Given the description of an element on the screen output the (x, y) to click on. 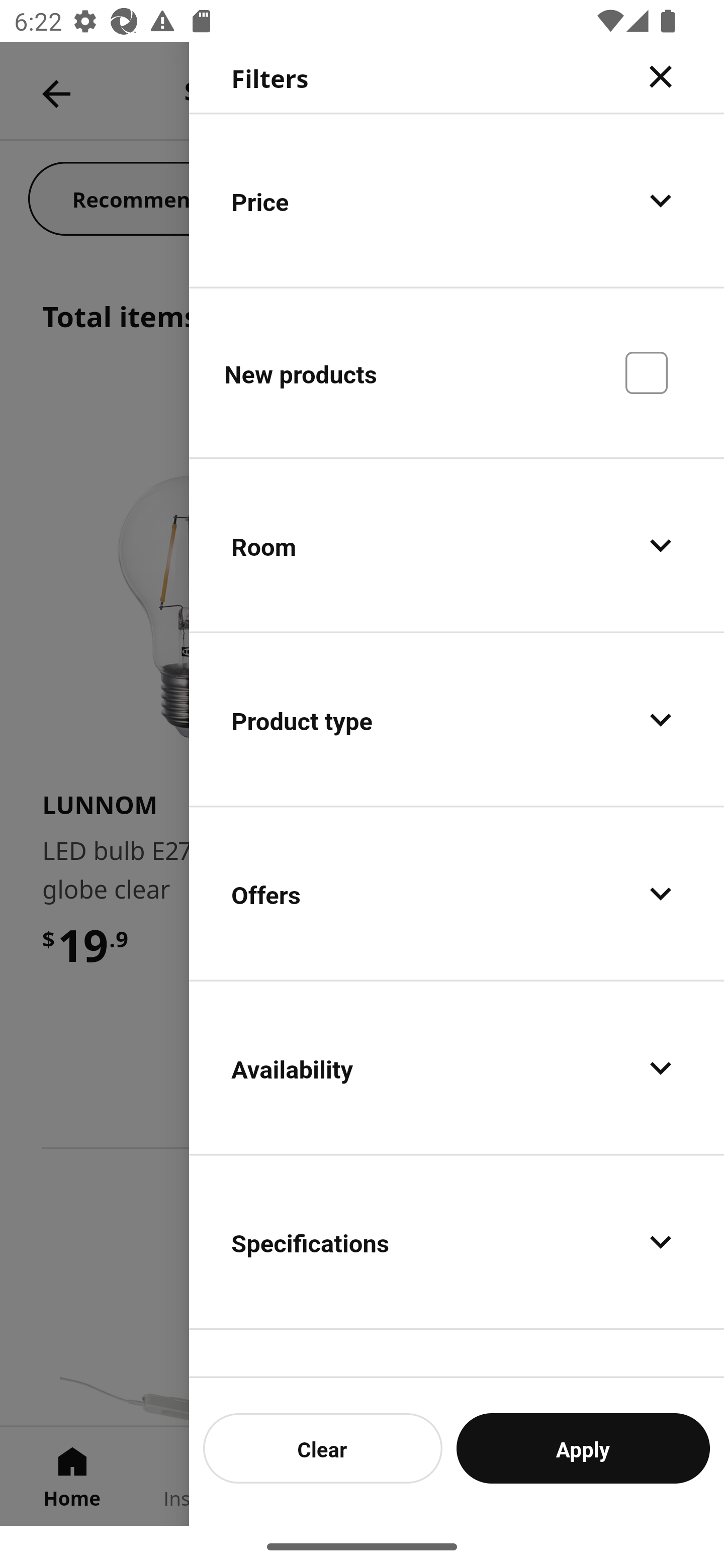
Price (456, 200)
New products (456, 371)
Room (456, 545)
Product type (456, 719)
Offers (456, 893)
Availability (456, 1067)
Specifications (456, 1241)
Clear (322, 1447)
Apply (583, 1447)
